Given the description of an element on the screen output the (x, y) to click on. 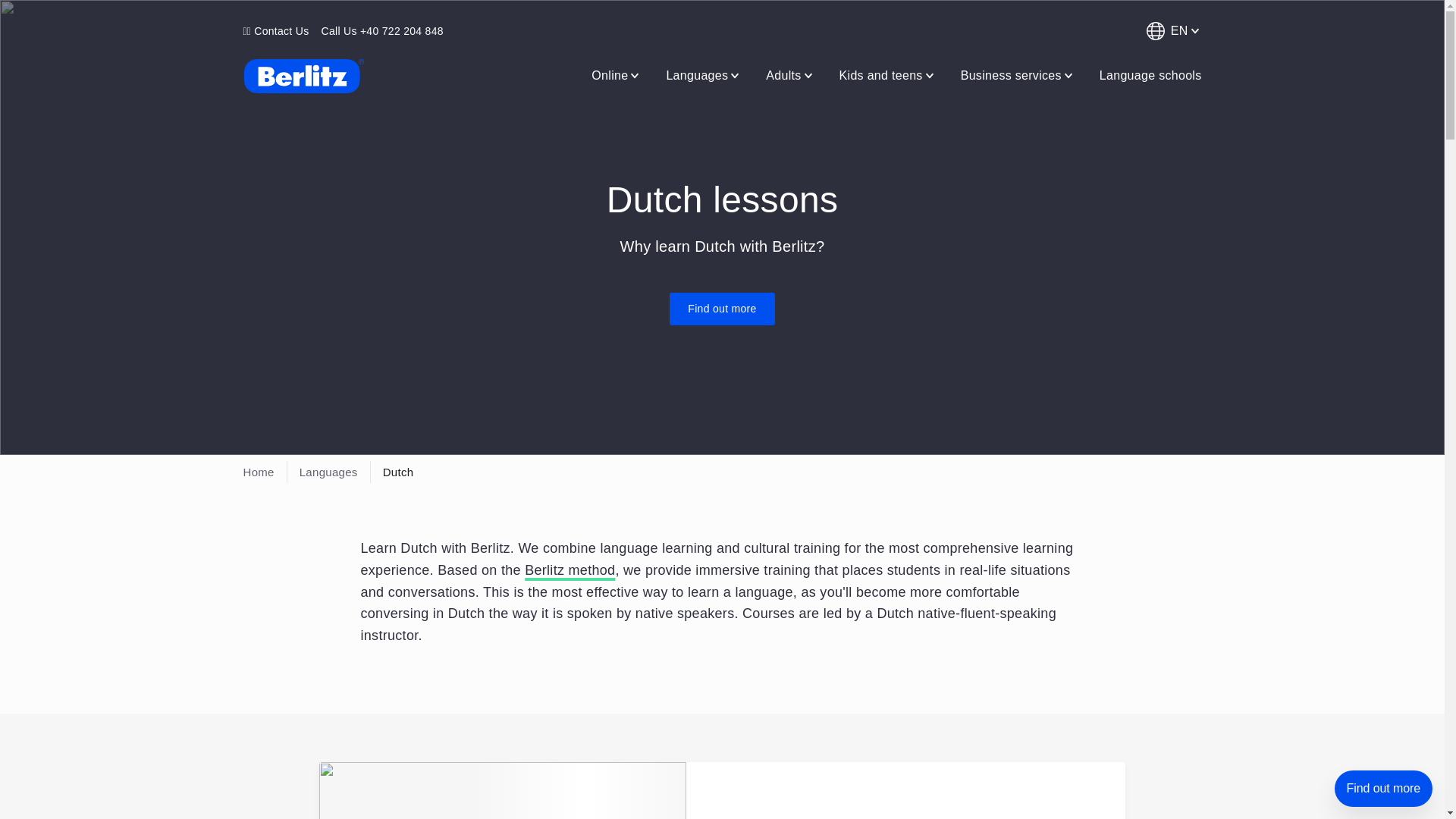
Romania (302, 76)
Berlitz (303, 75)
Adults (790, 75)
EN (1171, 30)
Kids and teens (887, 75)
Languages (703, 75)
Online (616, 75)
